Given the description of an element on the screen output the (x, y) to click on. 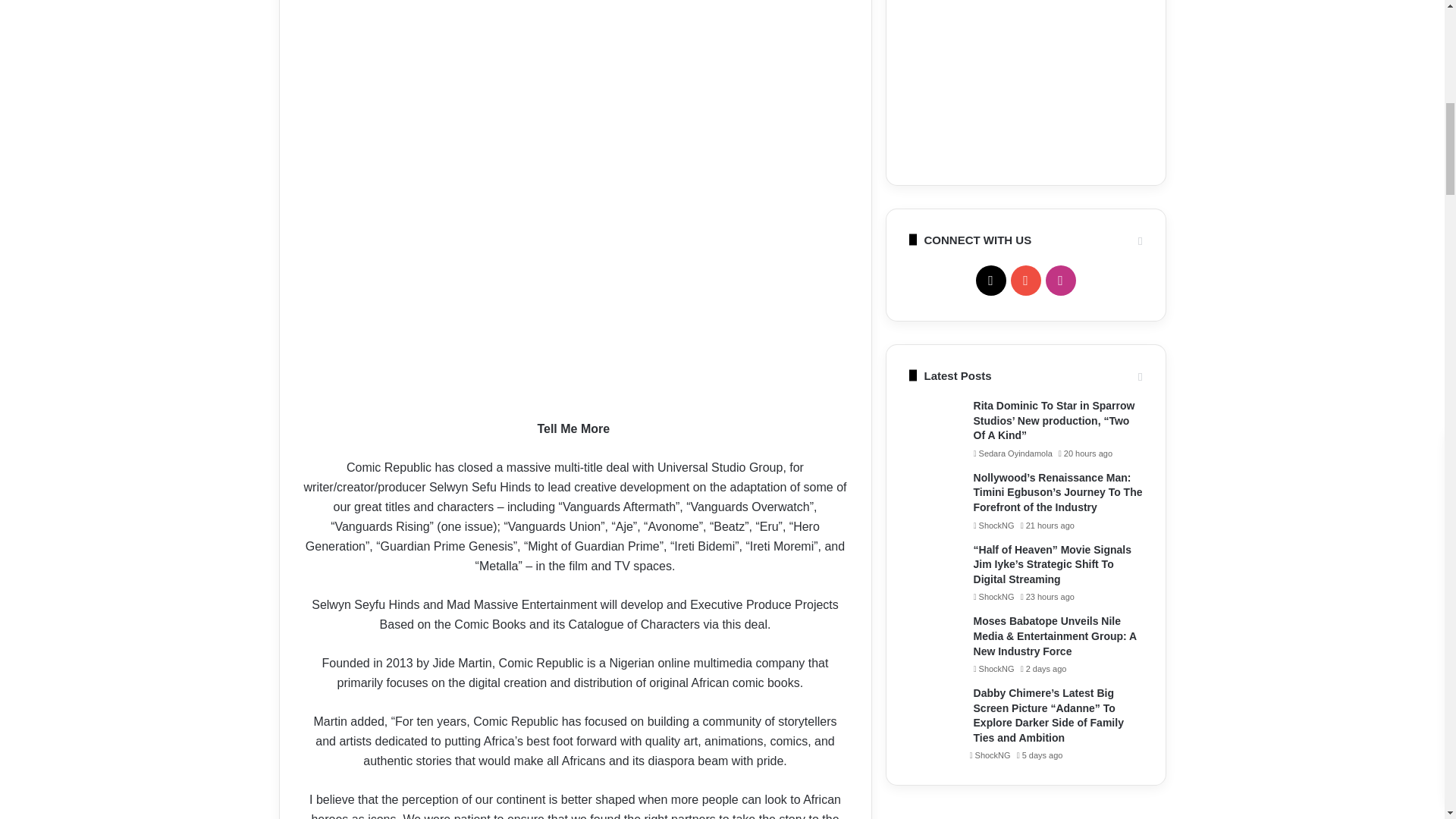
ShockNG (994, 524)
Sedara Oyindamola (1013, 452)
ShockNG (994, 596)
ShockNG (994, 668)
ShockNG (989, 755)
